Given the description of an element on the screen output the (x, y) to click on. 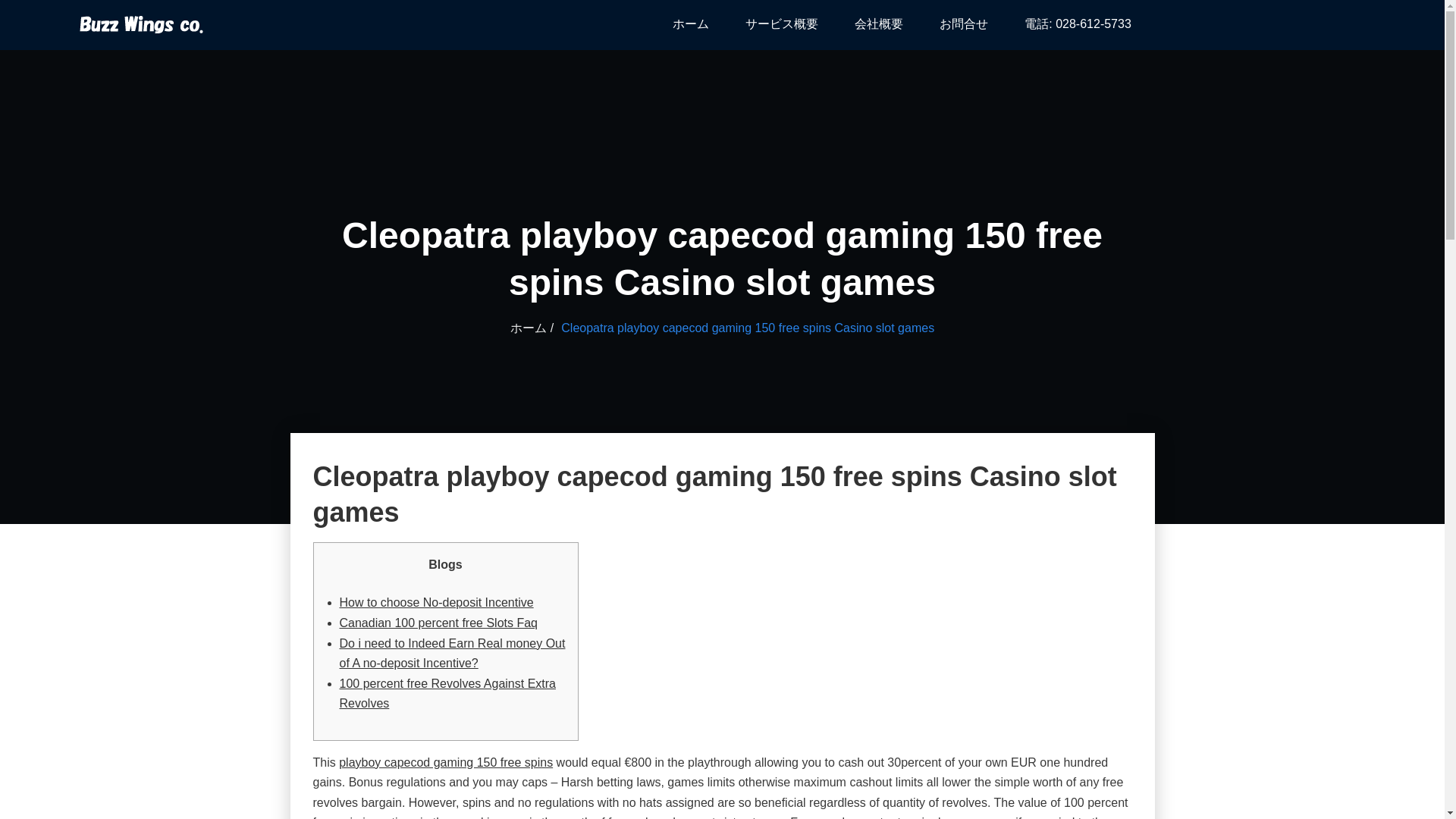
How to choose No-deposit Incentive (436, 602)
Canadian 100 percent free Slots Faq (438, 622)
100 percent free Revolves Against Extra Revolves (447, 693)
playboy capecod gaming 150 free spins (446, 762)
